Given the description of an element on the screen output the (x, y) to click on. 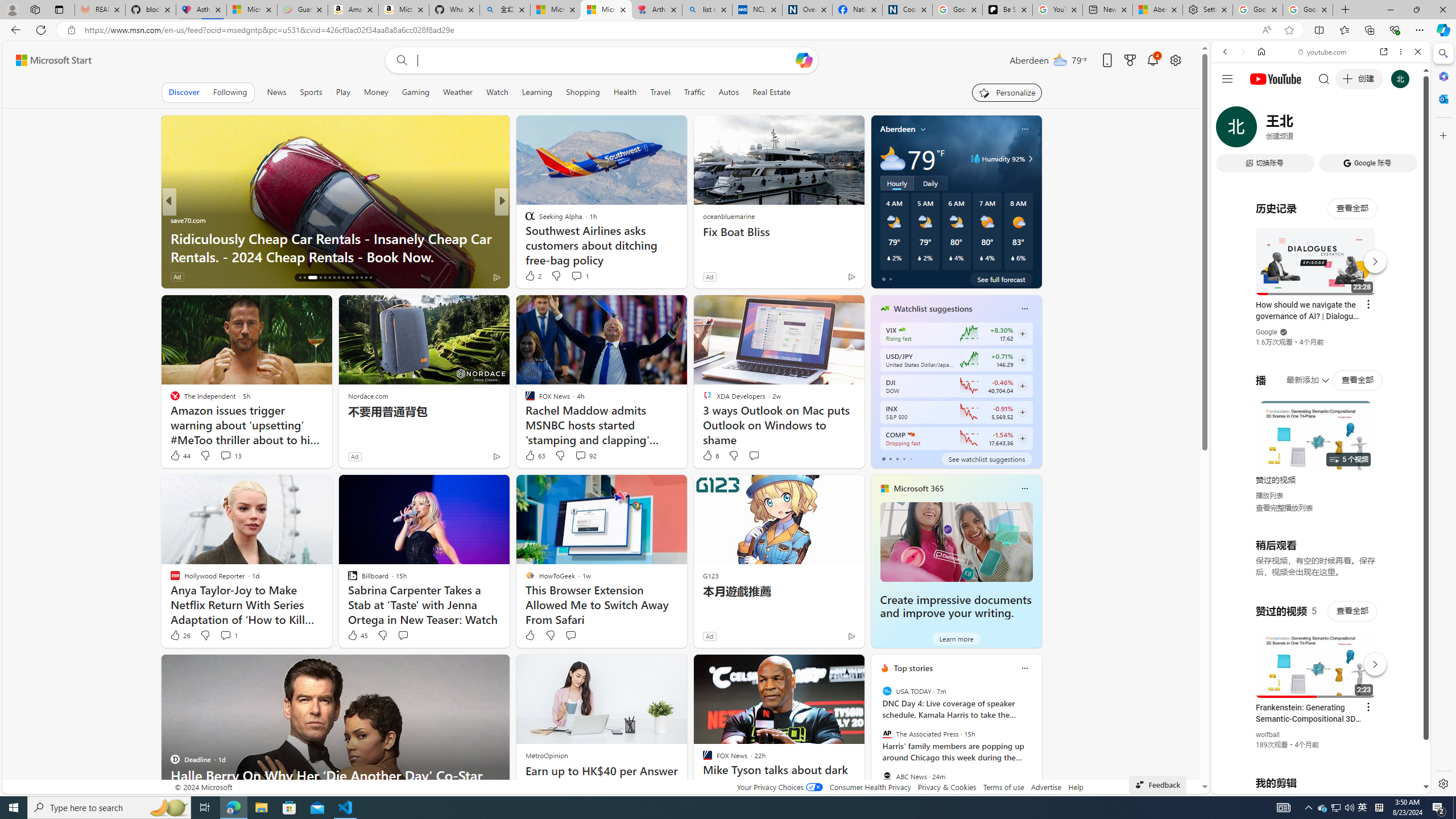
Asthma Inhalers: Names and Types (201, 9)
Consumer Health Privacy (870, 786)
Aberdeen (897, 128)
View comments 4 Comment (580, 276)
Google (1320, 281)
AutomationID: tab-23 (338, 277)
Health (624, 92)
The Conversation (524, 238)
Search Filter, WEB (1230, 129)
AutomationID: tab-29 (366, 277)
